Given the description of an element on the screen output the (x, y) to click on. 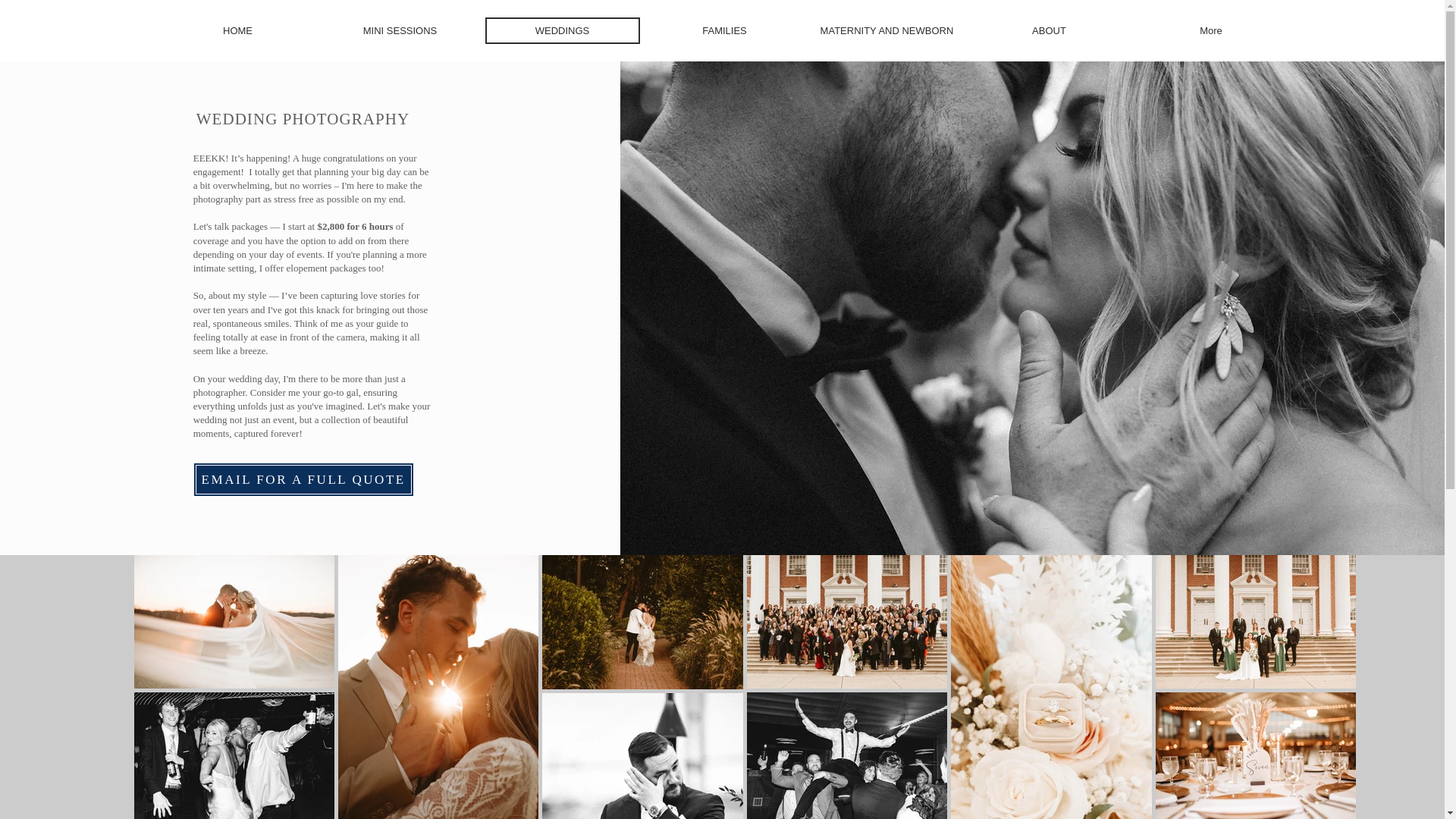
WEDDINGS (562, 30)
MATERNITY AND NEWBORN (886, 30)
MINI SESSIONS (400, 30)
HOME (237, 30)
ABOUT (1049, 30)
FAMILIES (724, 30)
EMAIL FOR A FULL QUOTE (303, 479)
